Given the description of an element on the screen output the (x, y) to click on. 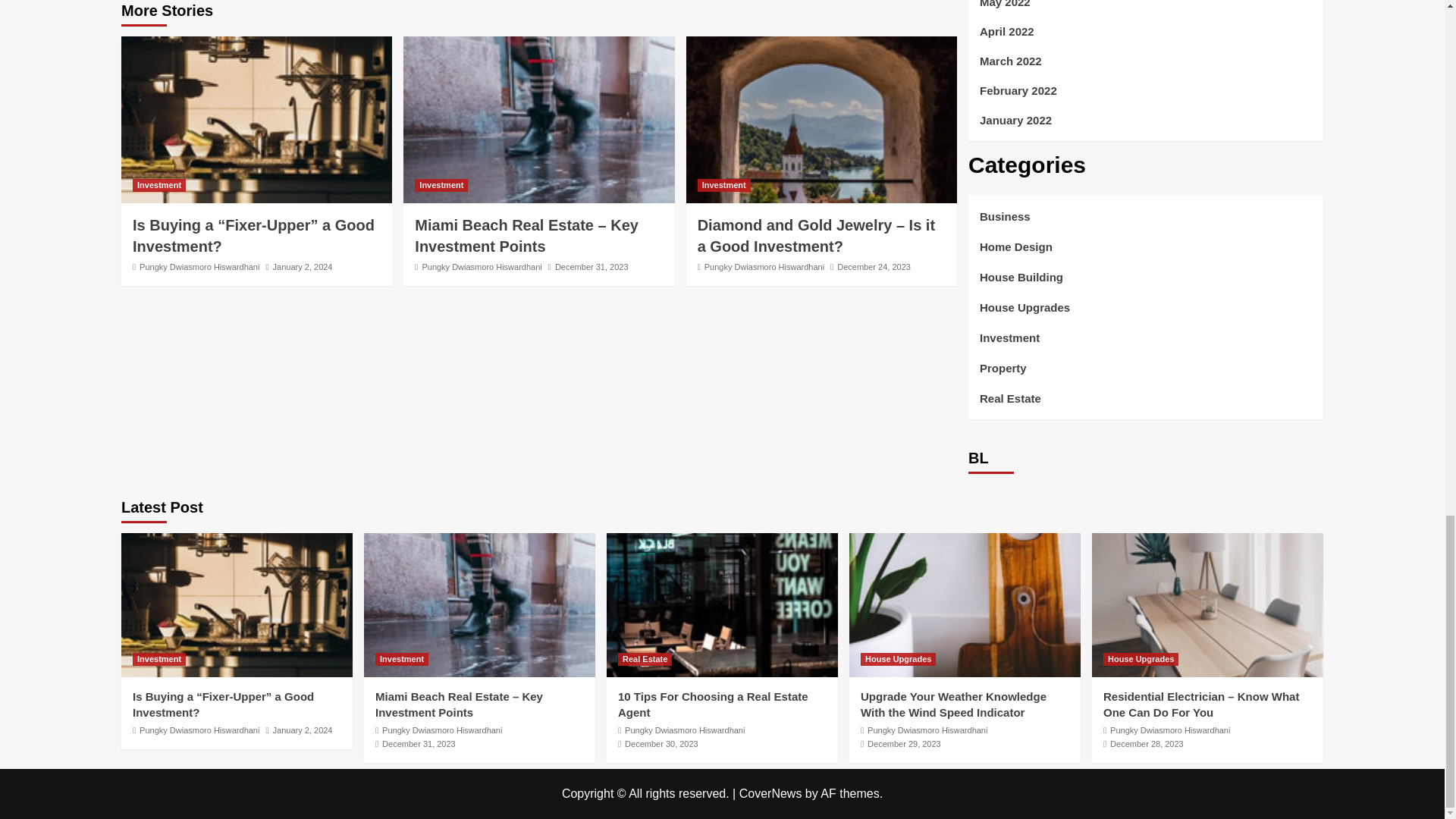
December 31, 2023 (591, 266)
10 Tips For Choosing a Real Estate Agent (722, 605)
December 24, 2023 (874, 266)
Investment (724, 185)
Pungky Dwiasmoro Hiswardhani (199, 266)
Upgrade Your Weather Knowledge With the Wind Speed Indicator (964, 605)
Investment (159, 185)
Pungky Dwiasmoro Hiswardhani (481, 266)
Investment (440, 185)
Pungky Dwiasmoro Hiswardhani (764, 266)
January 2, 2024 (303, 266)
